Given the description of an element on the screen output the (x, y) to click on. 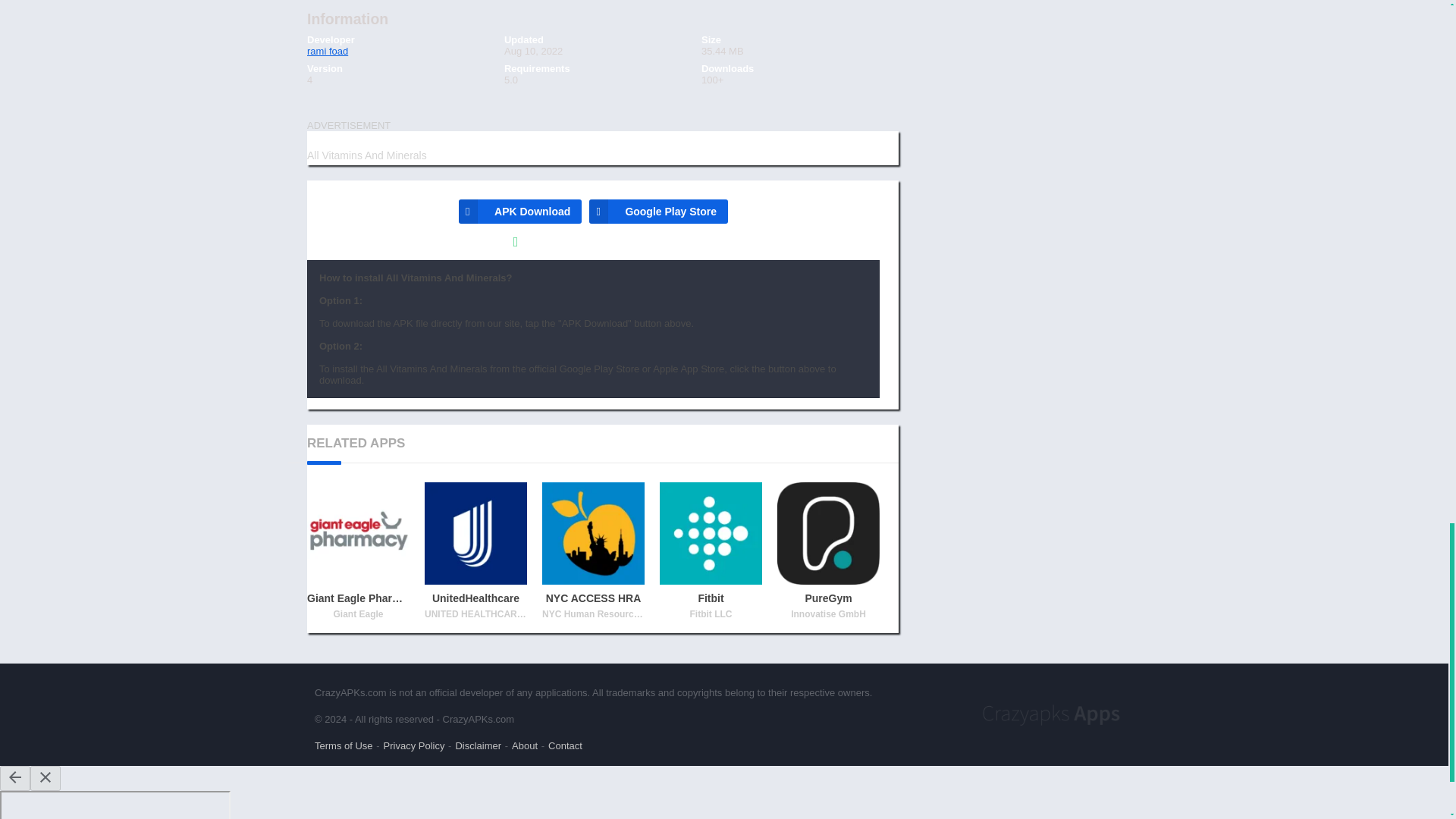
APK Download (519, 211)
rami foad (327, 50)
Google Play Store (658, 211)
